Given the description of an element on the screen output the (x, y) to click on. 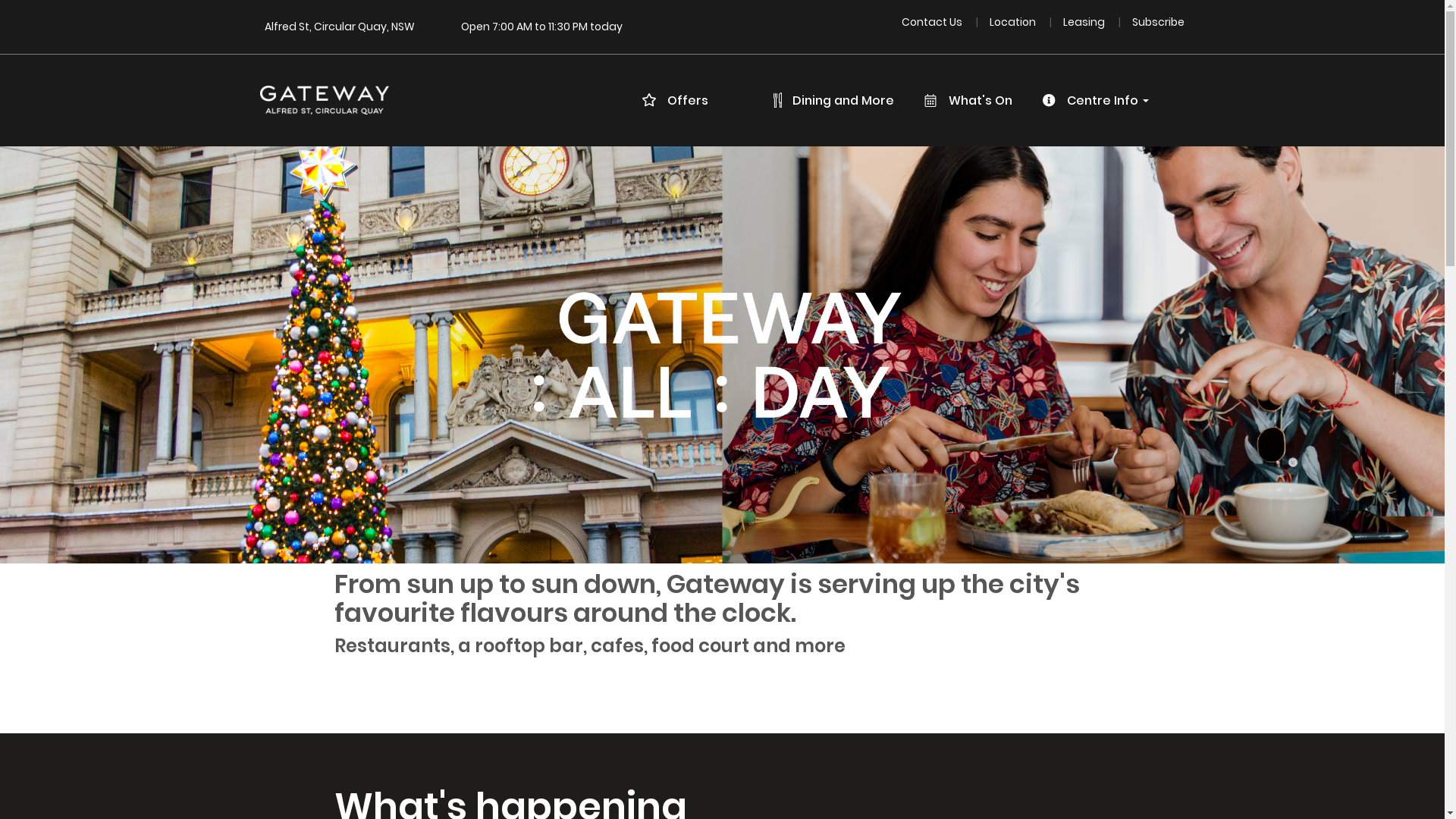
Offers Element type: text (681, 100)
Alfred St, Circular Quay, NSW Element type: text (338, 26)
Centre Info Element type: text (1100, 100)
Leasing Element type: text (1085, 21)
Contact Us Element type: text (932, 21)
What's On Element type: text (973, 100)
Restaurants, a rooftop bar, cafes, food court and more Element type: text (590, 645)
Dining and More Element type: text (840, 100)
Open 7:00 AM to 11:30 PM today Element type: text (541, 26)
Location Element type: text (1013, 21)
Subscribe Element type: text (1158, 21)
